Given the description of an element on the screen output the (x, y) to click on. 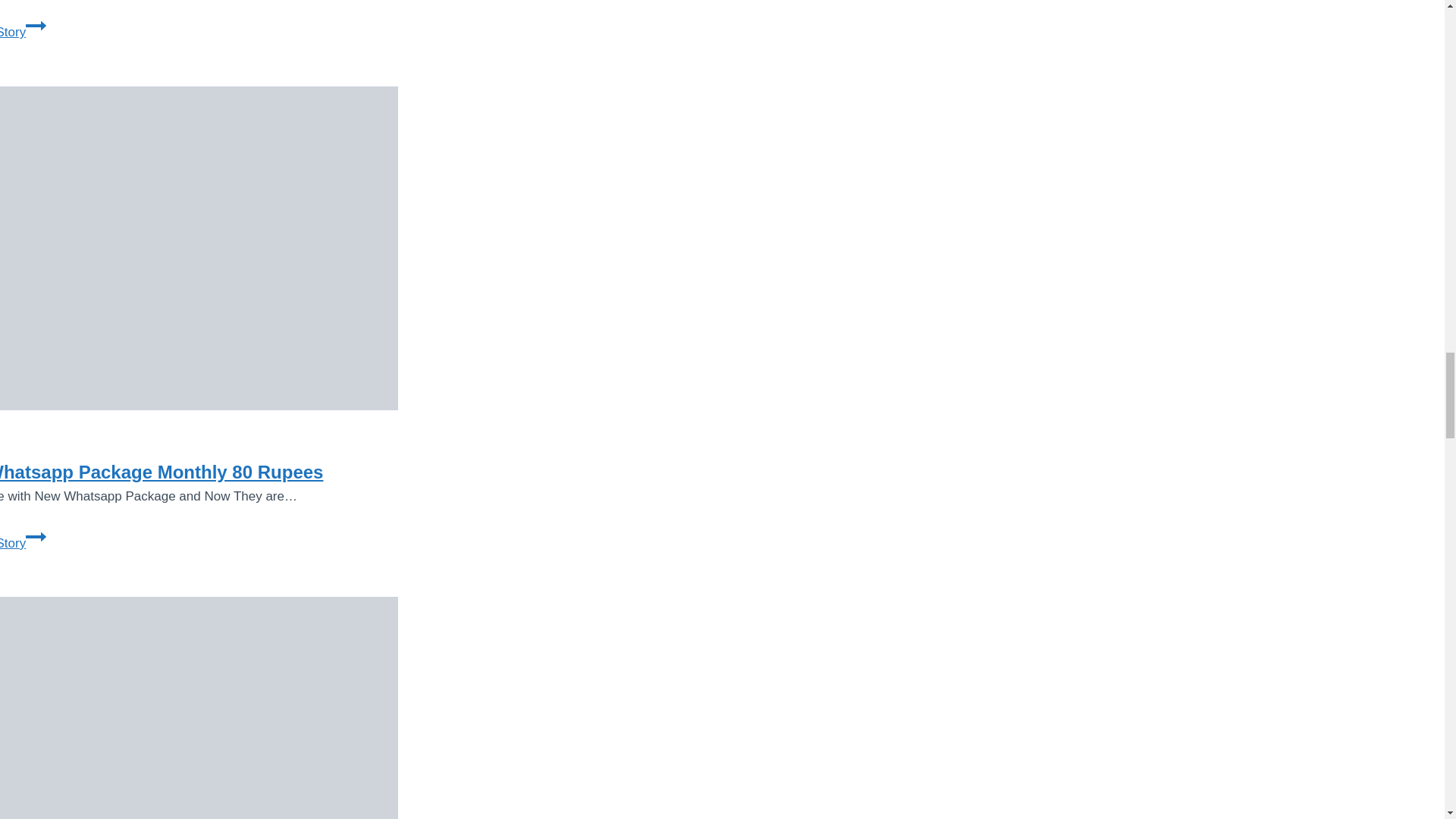
Zong Whatsapp Package Monthly 80 Rupees (161, 471)
Zong Whatsapp Package Monthly 80 Rupees 6 (198, 248)
Continue (36, 536)
Jazz Full Balance Offer 7 (23, 32)
Continue (198, 708)
